Given the description of an element on the screen output the (x, y) to click on. 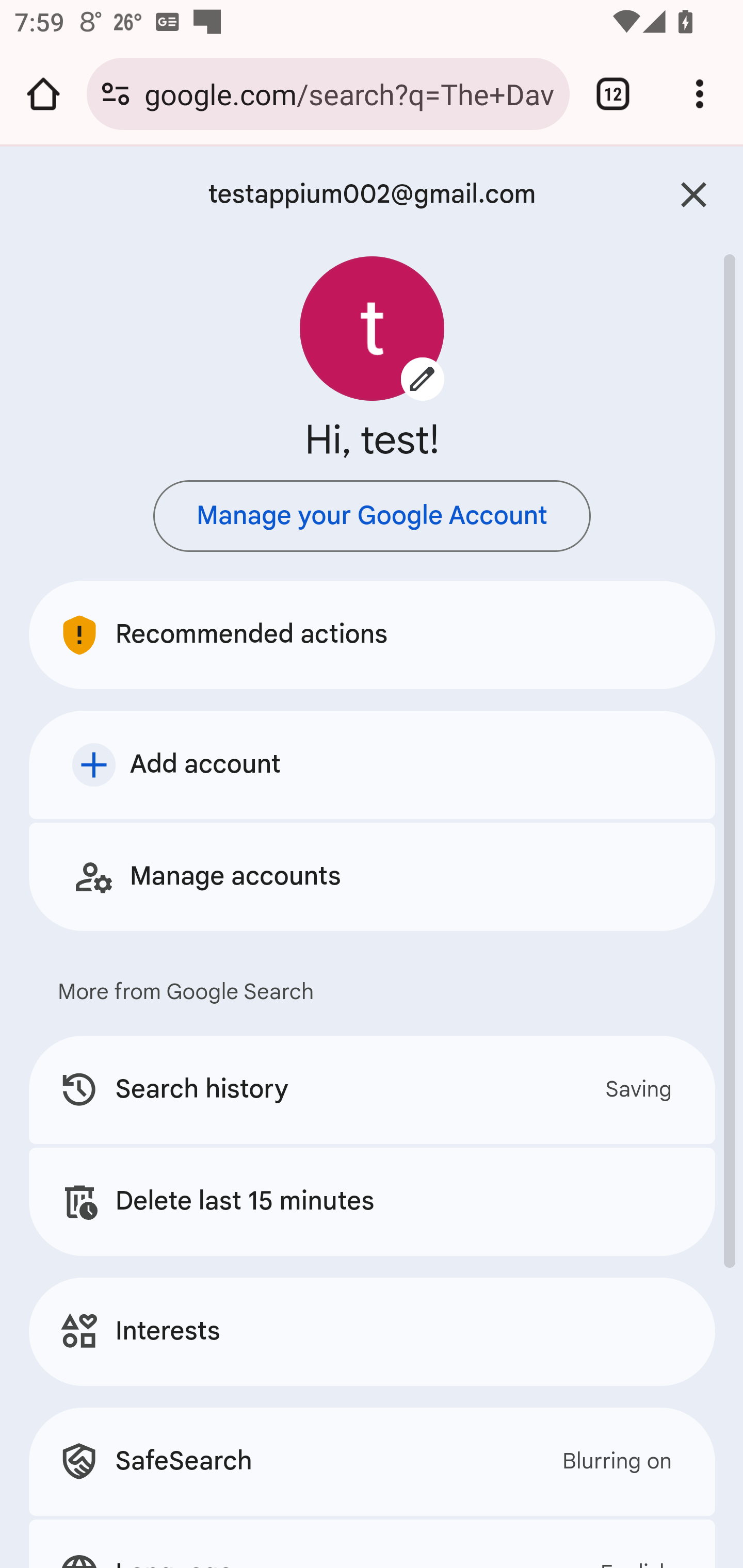
Open the home page (43, 93)
Connection is secure (115, 93)
Switch or close tabs (612, 93)
Customize and control Google Chrome (699, 93)
Close menu (694, 195)
Change profile picture (372, 328)
Manage your Google Account (371, 515)
Recommended actions (372, 633)
Add account (372, 764)
Manage accounts (372, 876)
Delete last 15 minutes (372, 1200)
interests Interests interests Interests (372, 1331)
